Given the description of an element on the screen output the (x, y) to click on. 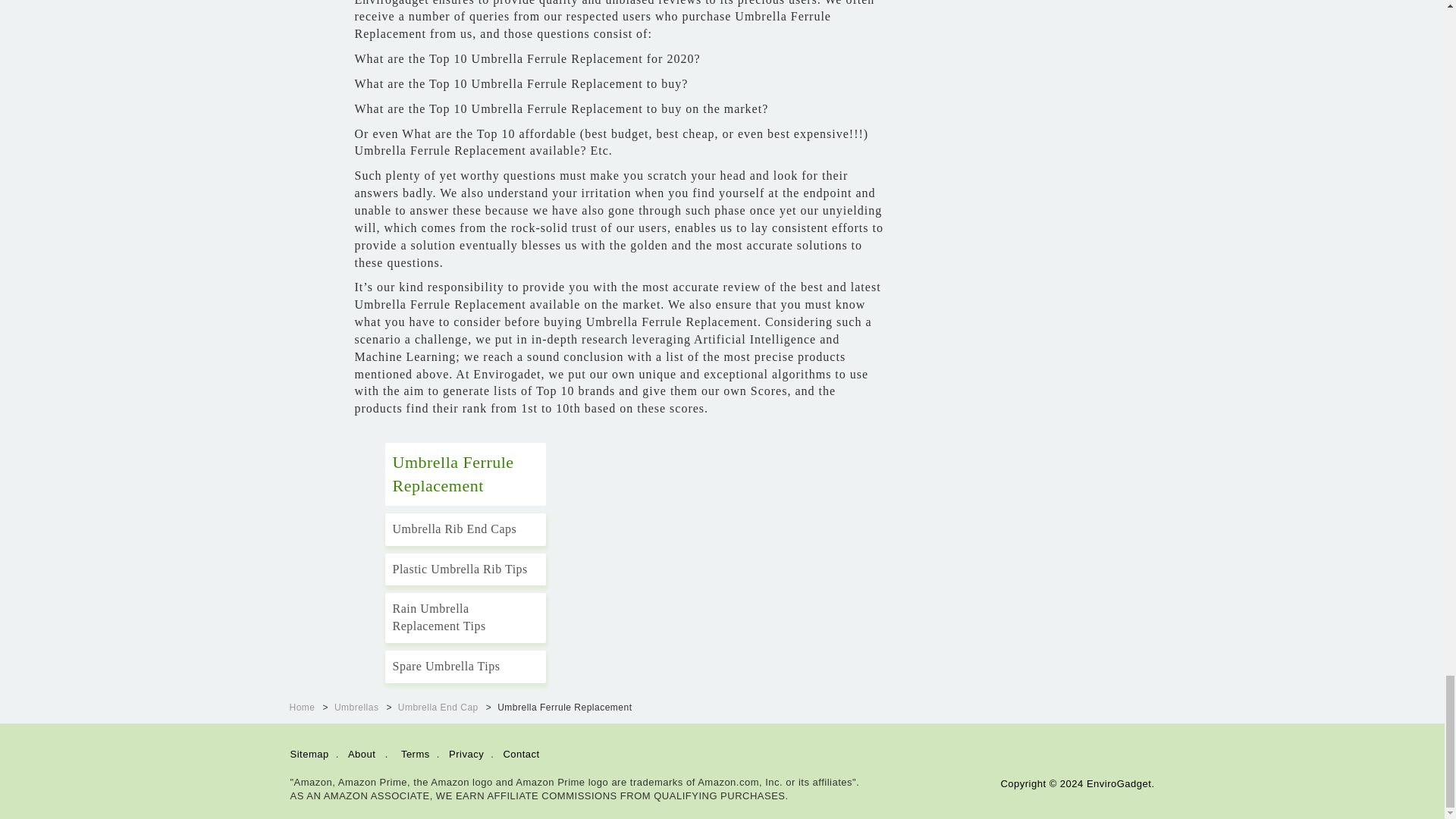
Spare Umbrella Tips (466, 666)
Plastic Umbrella Rib Tips (466, 569)
Rain Umbrella Replacement Tips (466, 617)
Umbrella Rib End Caps (466, 529)
